Given the description of an element on the screen output the (x, y) to click on. 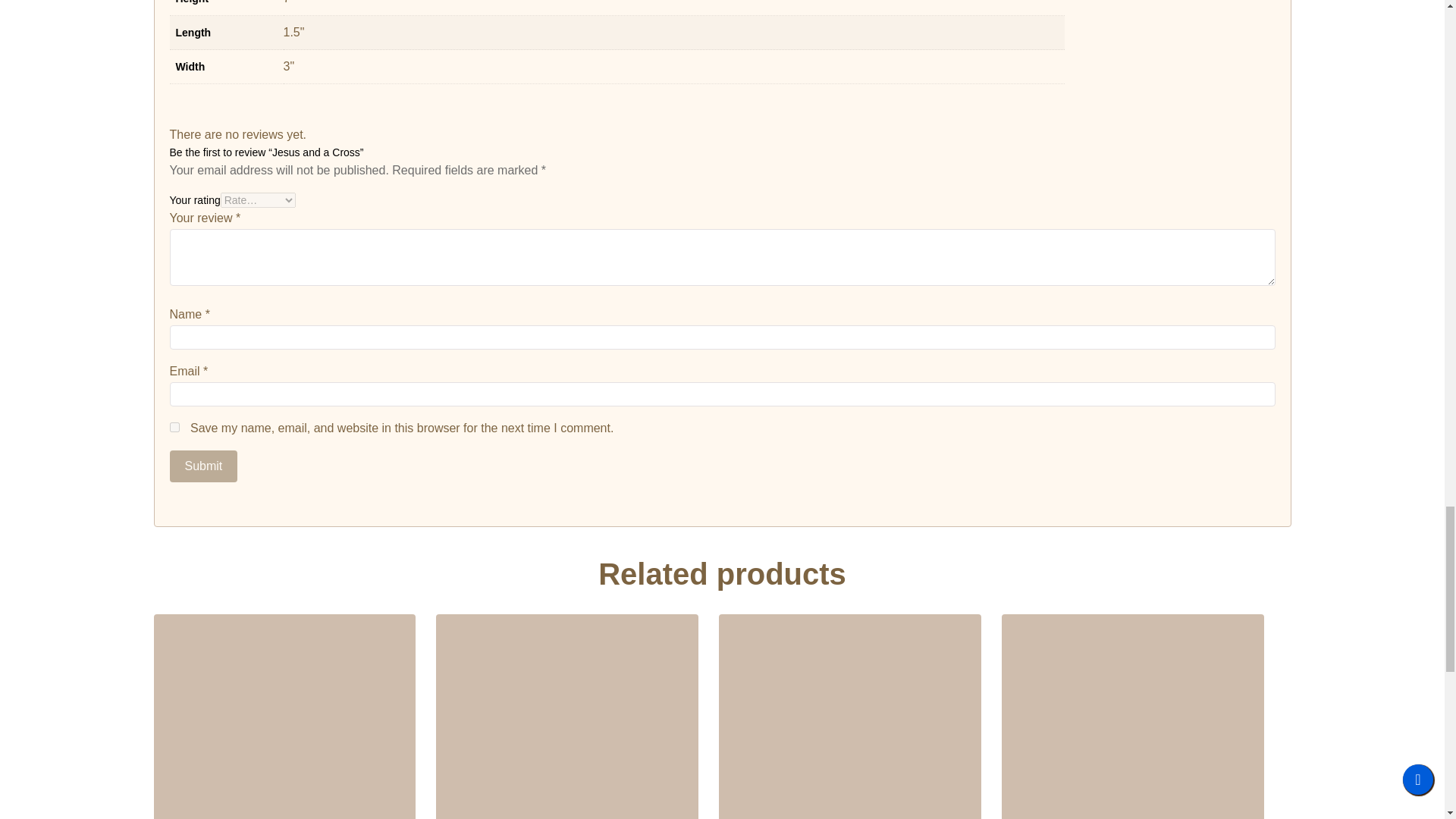
yes (174, 427)
Submit (204, 466)
